Given the description of an element on the screen output the (x, y) to click on. 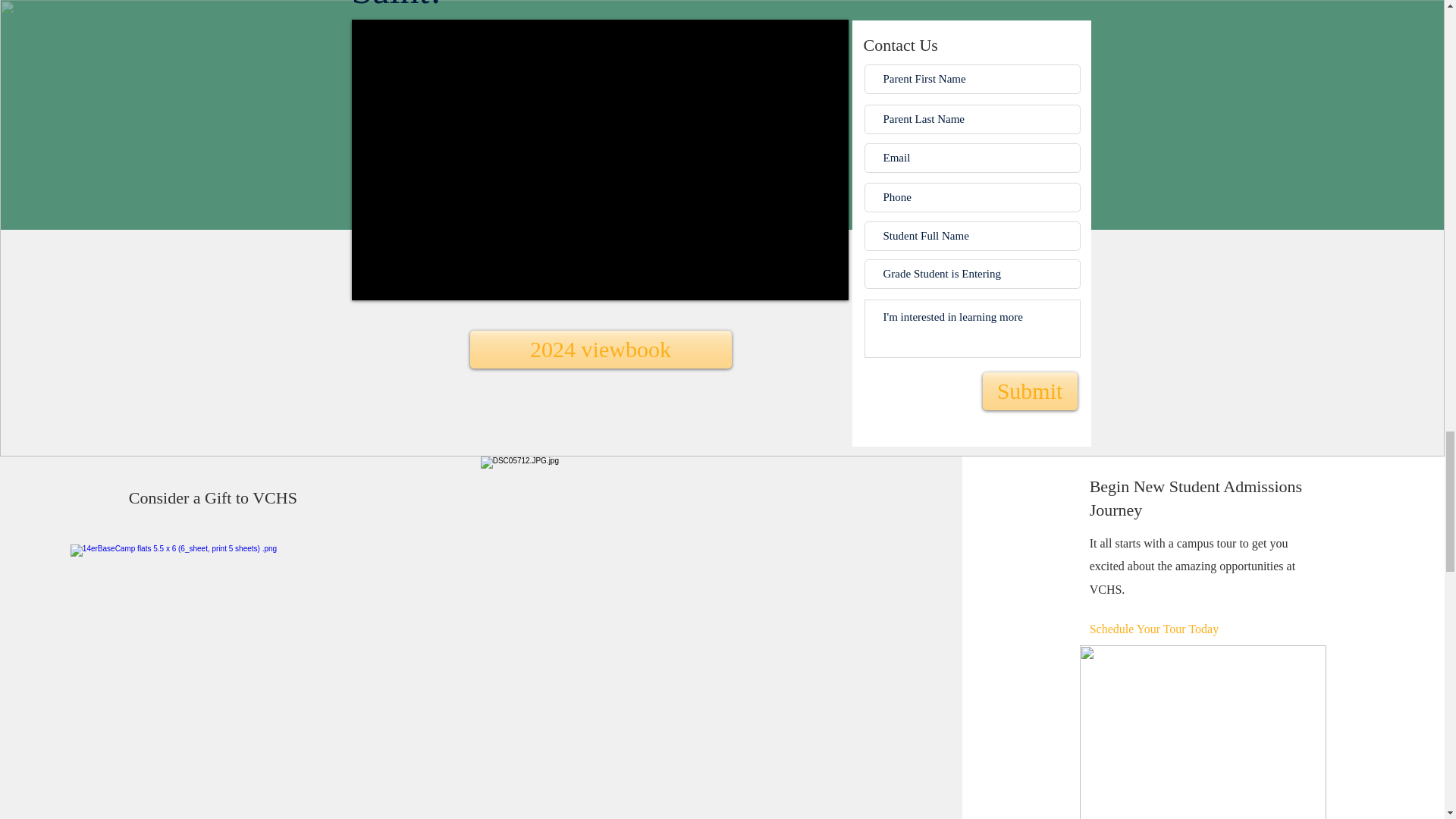
Submit (1029, 391)
2024 viewbook (601, 349)
Schedule Your Tour Today (1184, 629)
Copy of VCHS Admissions 2022 HIGHLIGHTS.png (1203, 732)
